Given the description of an element on the screen output the (x, y) to click on. 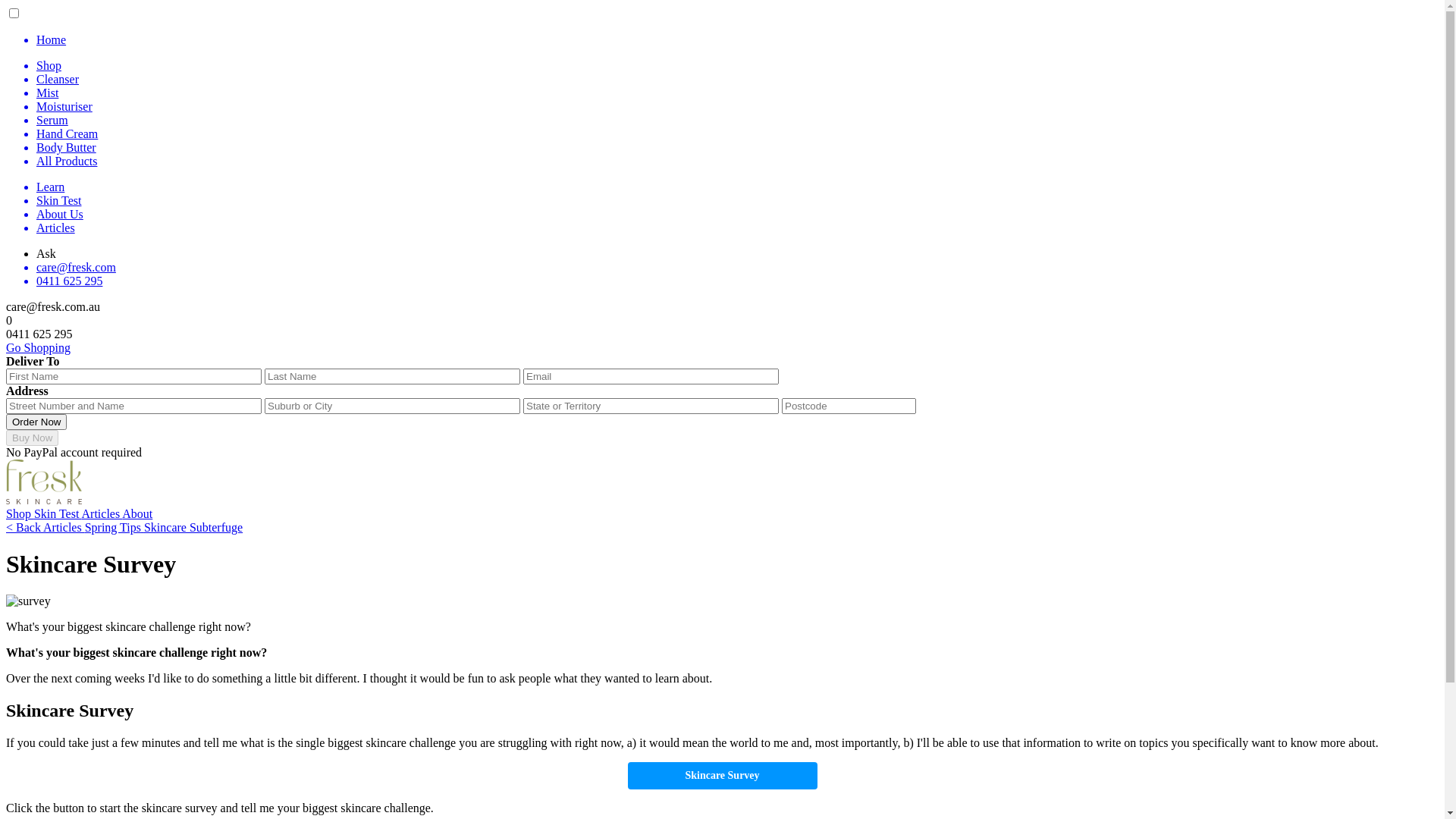
Buy Now Element type: text (32, 437)
Order Now Element type: text (36, 421)
Home Element type: text (737, 40)
Shop Element type: text (20, 513)
Order now with your voucher credit Element type: hover (36, 421)
Cleanser Element type: text (737, 79)
Skin Test Element type: text (737, 200)
Nurture youself. Healthy ingredients for healthy skin Element type: hover (43, 499)
Body Butter Element type: text (737, 147)
About Us Element type: text (737, 214)
< Back Element type: text (24, 526)
Go Shopping Element type: text (38, 347)
Mist Element type: text (737, 93)
Articles Element type: text (737, 228)
Email address Element type: hover (650, 376)
Hand Cream Element type: text (737, 134)
Spring Tips Element type: text (114, 526)
Moisturiser Element type: text (737, 106)
Skincare Survey Element type: text (722, 775)
Articles Element type: text (101, 513)
Shop Element type: text (737, 65)
All Products Element type: text (737, 161)
Buy now with Paypal or credit card Element type: hover (32, 437)
postcode Element type: hover (848, 406)
care@fresk.com Element type: text (737, 267)
Serum Element type: text (737, 120)
0411 625 295 Element type: text (737, 281)
Learn Element type: text (737, 187)
Skincare Subterfuge Element type: text (193, 526)
About Element type: text (137, 513)
Skin Test Element type: text (57, 513)
Articles Element type: text (63, 526)
